Given the description of an element on the screen output the (x, y) to click on. 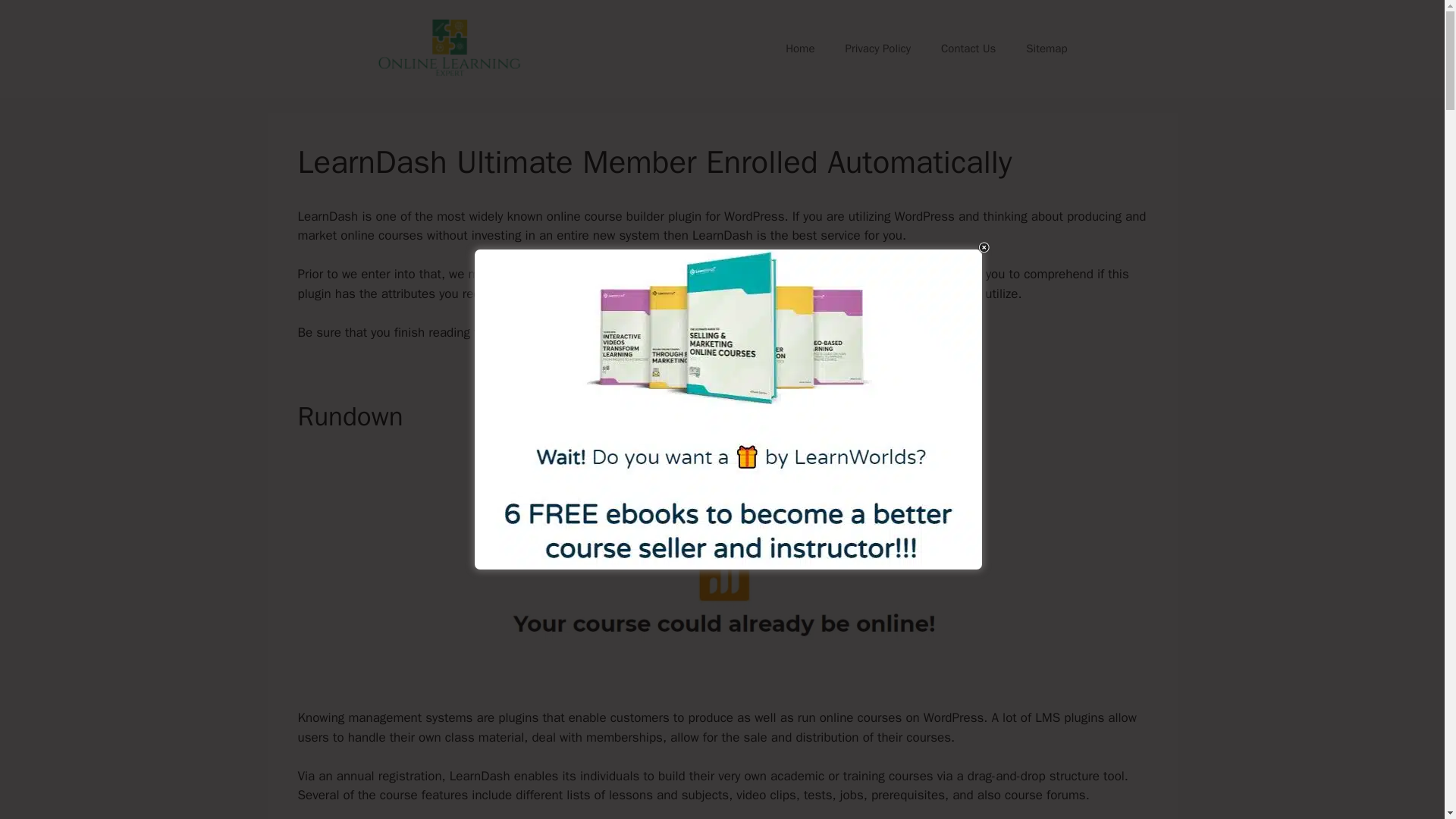
Home (799, 48)
Privacy Policy (877, 48)
Sitemap (1045, 48)
Contact Us (968, 48)
